Given the description of an element on the screen output the (x, y) to click on. 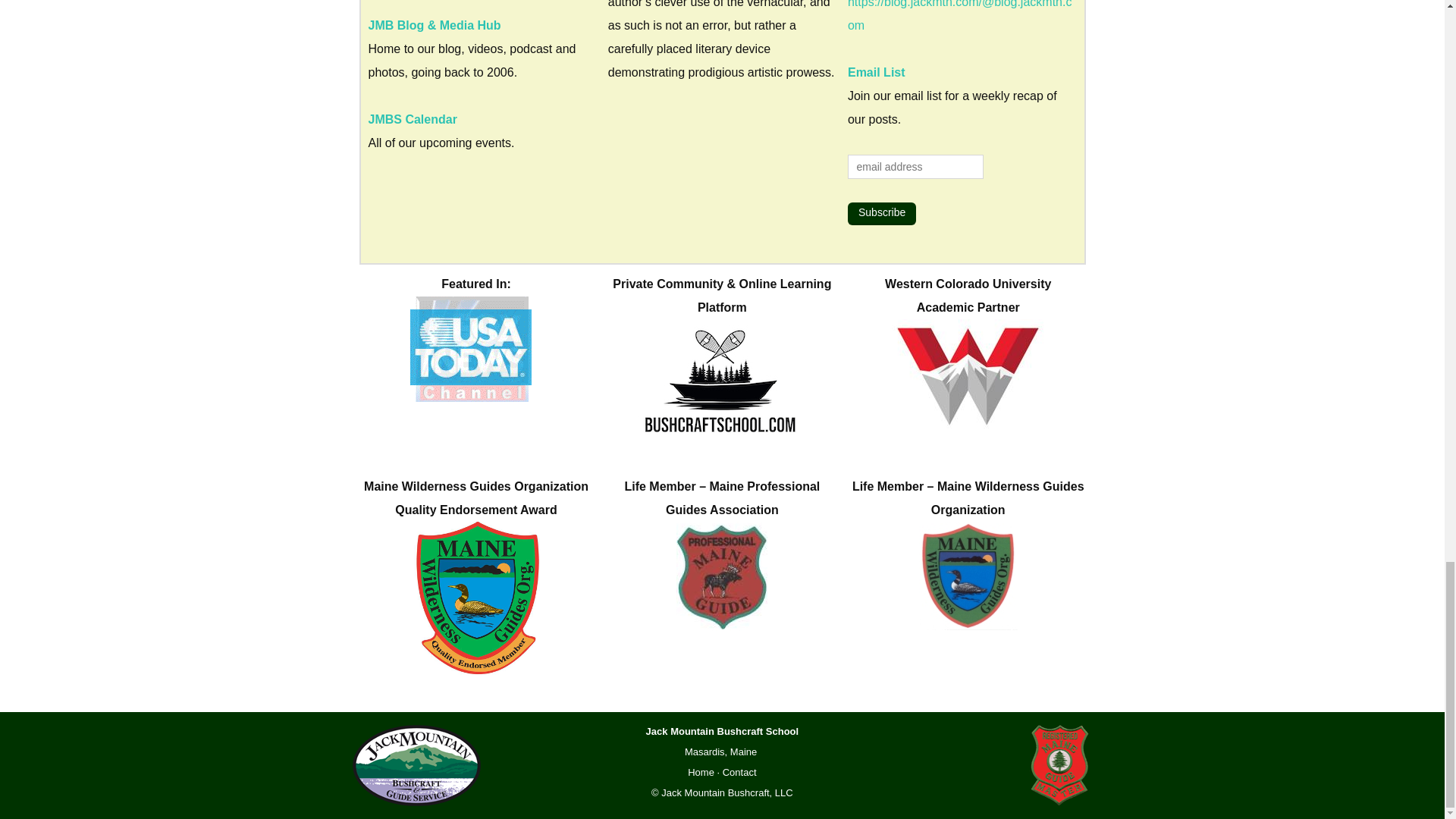
Subscribe (881, 213)
Maine Wilderness Guides Organization - Life Member (967, 575)
MWGO (475, 600)
BushcraftSchool.com (722, 377)
WSU (967, 374)
